Given the description of an element on the screen output the (x, y) to click on. 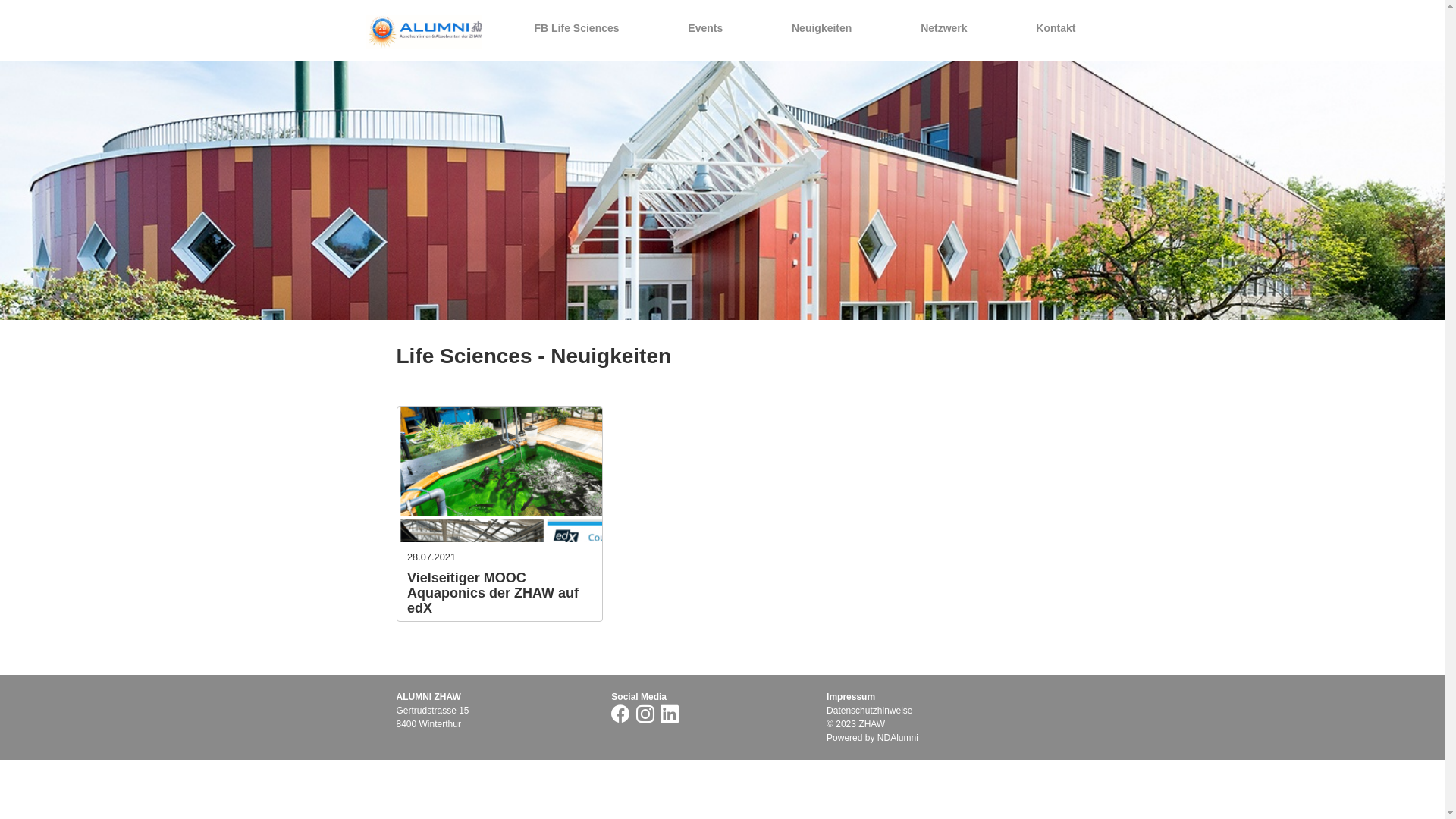
Neuigkeiten Element type: text (821, 27)
Linkedin Element type: hover (671, 714)
Datenschutzhinweise Element type: text (869, 710)
Netzwerk Element type: text (943, 27)
Instagram Element type: hover (647, 714)
FB Life Sciences Element type: text (575, 27)
28.07.2021
Vielseitiger MOOC Aquaponics der ZHAW auf edX Element type: text (498, 513)
Events Element type: text (704, 27)
Powered by NDAlumni Element type: text (872, 737)
Kontakt Element type: text (1055, 27)
Life Sciences - Neuigkeiten Element type: text (533, 355)
Facebook Element type: hover (622, 714)
Impressum Element type: text (850, 696)
